Given the description of an element on the screen output the (x, y) to click on. 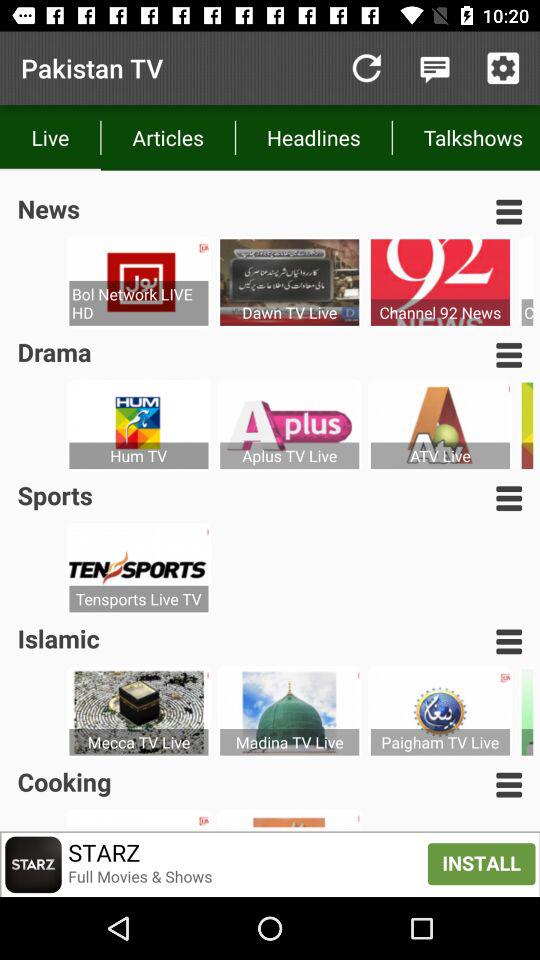
select icon to the right of live item (167, 137)
